Given the description of an element on the screen output the (x, y) to click on. 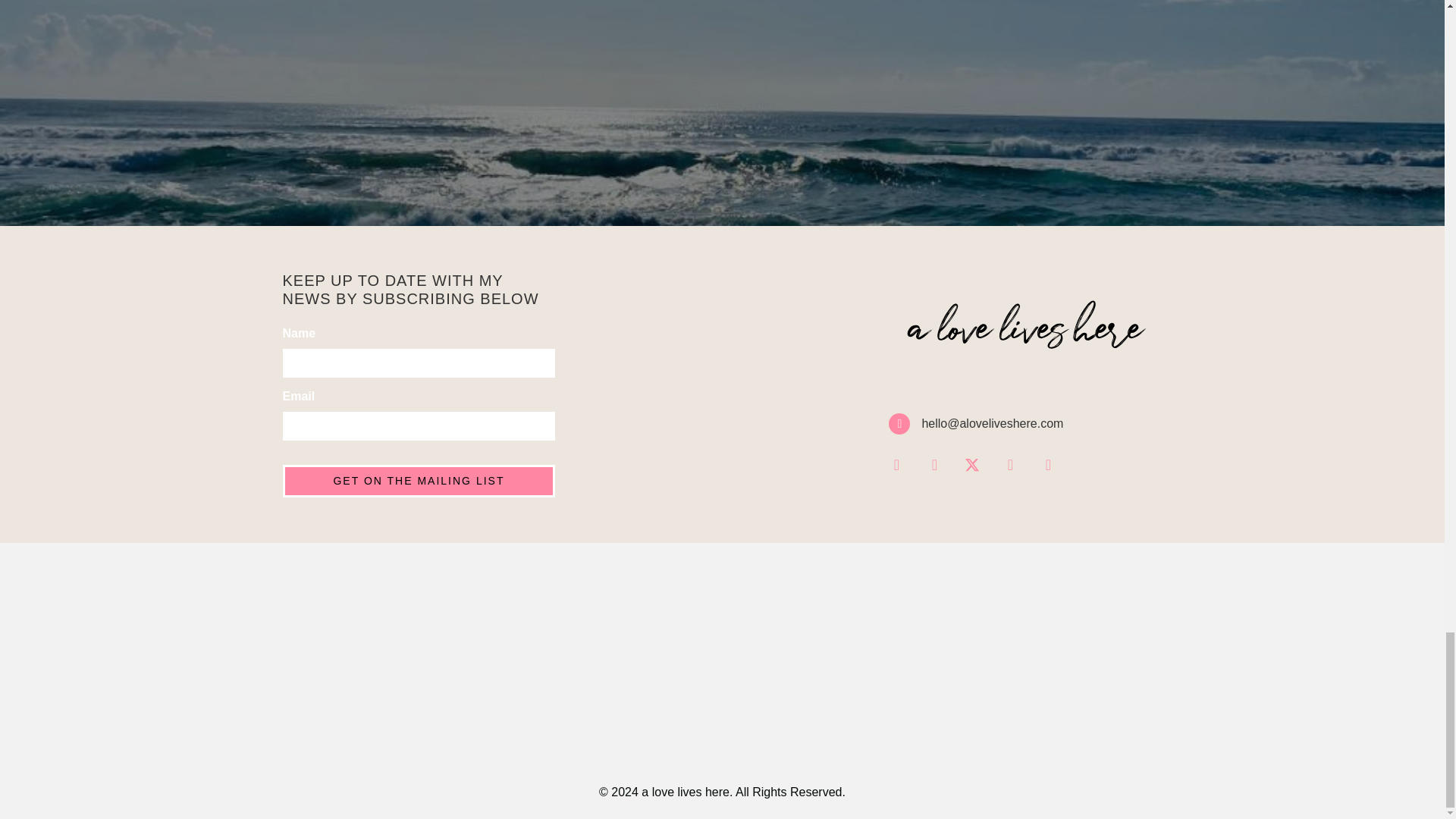
Pinterest (1048, 464)
LinkedIn (1010, 464)
GET ON THE MAILING LIST (418, 481)
Facebook (934, 464)
aloveliveshere Website Logo (1024, 334)
Instagram (896, 464)
